Given the description of an element on the screen output the (x, y) to click on. 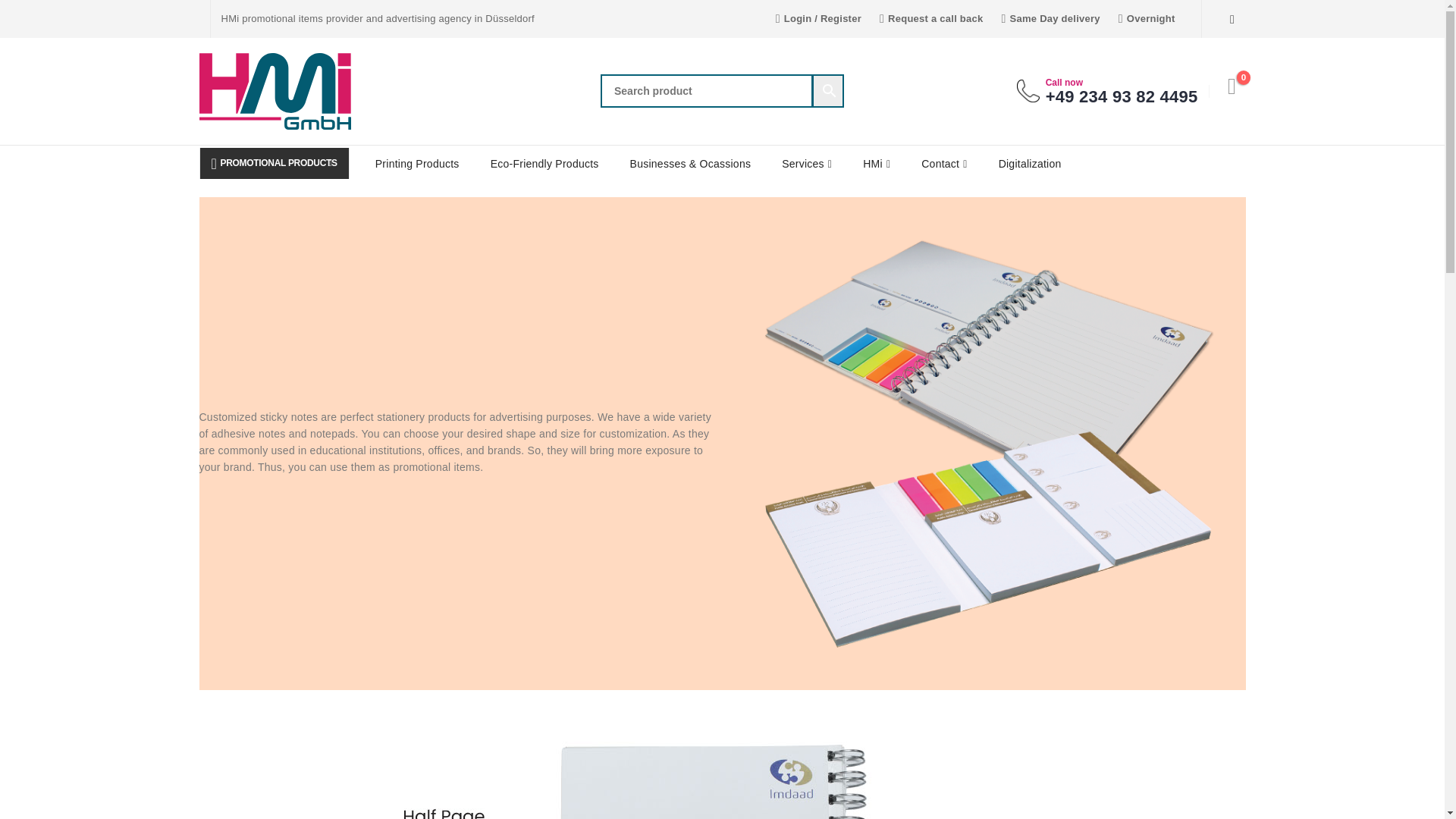
Printing Products (416, 163)
Overnight (1146, 18)
HMi (876, 163)
Request a call back (931, 18)
Instagram (1232, 18)
Services (807, 163)
Eco-Friendly Products (545, 163)
Same Day delivery (1050, 18)
